Given the description of an element on the screen output the (x, y) to click on. 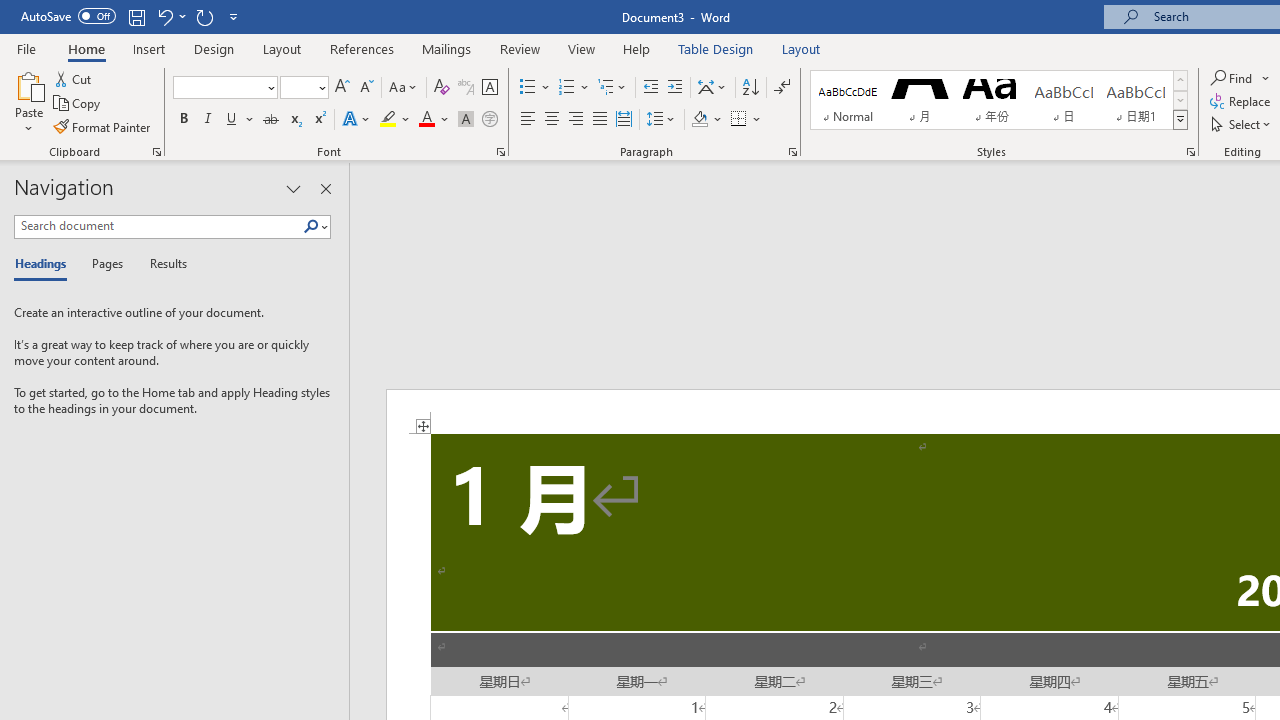
Quick Access Toolbar (131, 16)
Design (214, 48)
Mailings (447, 48)
Justify (599, 119)
Row up (1179, 79)
Undo Grow Font (164, 15)
Table Design (715, 48)
Close pane (325, 188)
Layout (801, 48)
Review (520, 48)
